Given the description of an element on the screen output the (x, y) to click on. 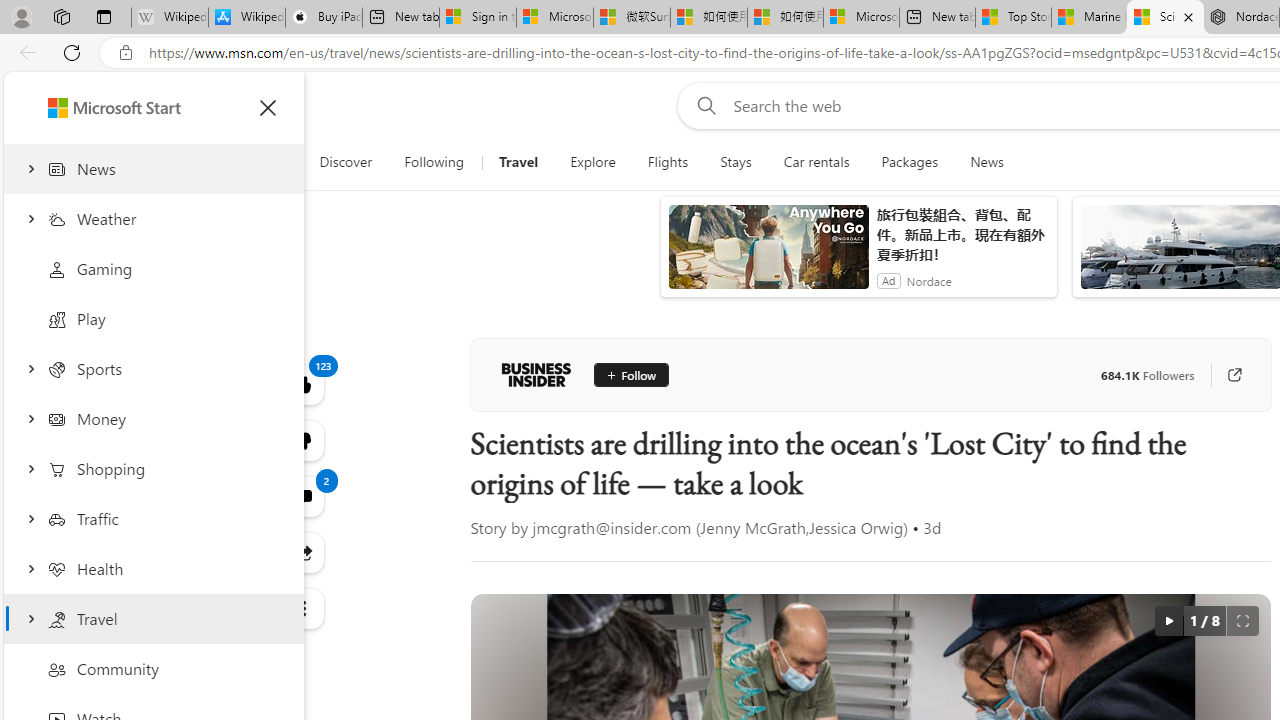
Flights (668, 162)
Stays (736, 162)
Stays (735, 162)
Business Insider (536, 374)
autorotate button (1168, 620)
Share this story (302, 552)
Full screen (1242, 620)
Flights (667, 162)
